Given the description of an element on the screen output the (x, y) to click on. 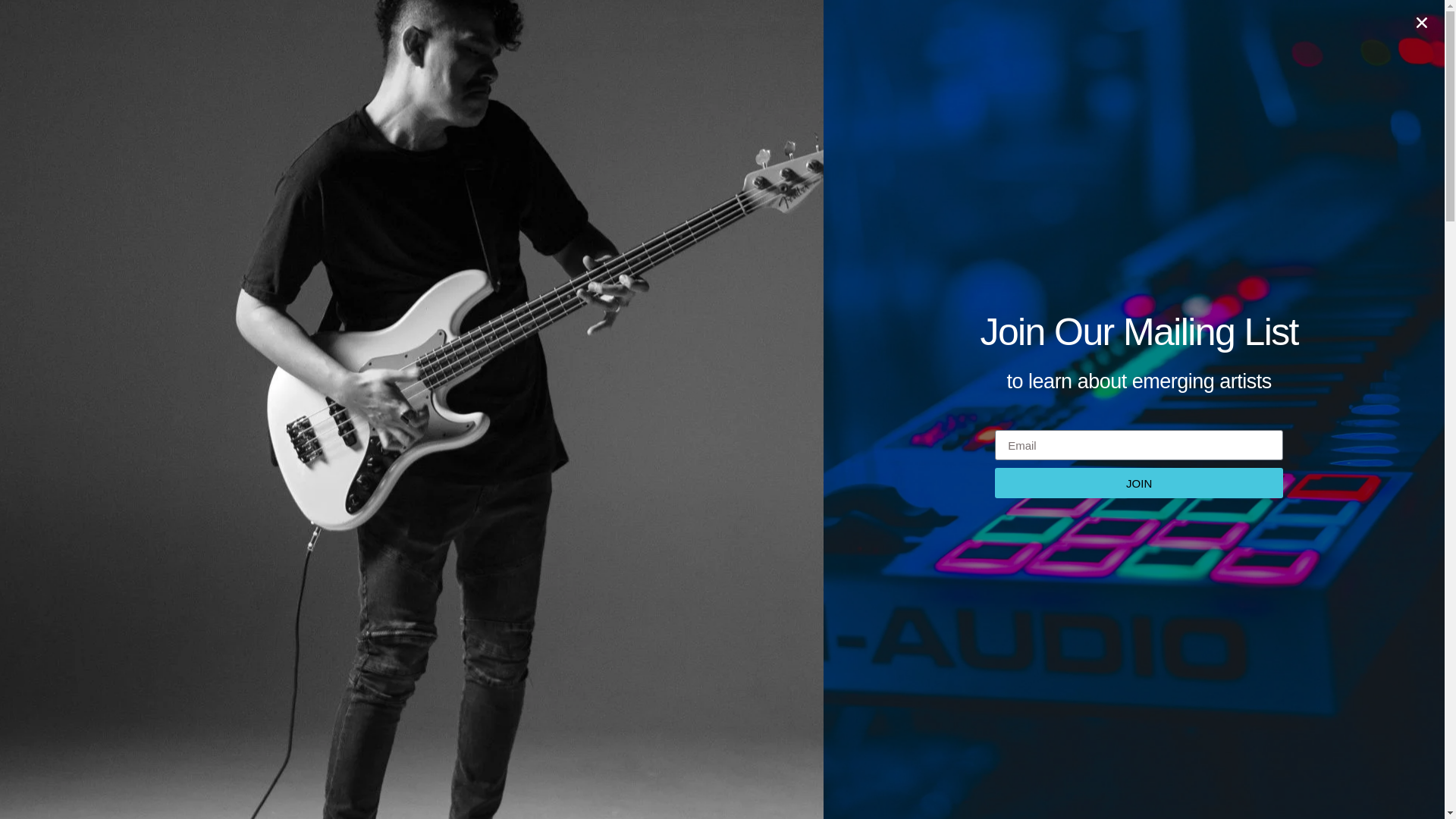
Contact (1067, 39)
Playlists (748, 39)
Services (915, 39)
Rising Artists Blog (794, 159)
September 19, 2021 (943, 159)
Get Press (831, 39)
